Given the description of an element on the screen output the (x, y) to click on. 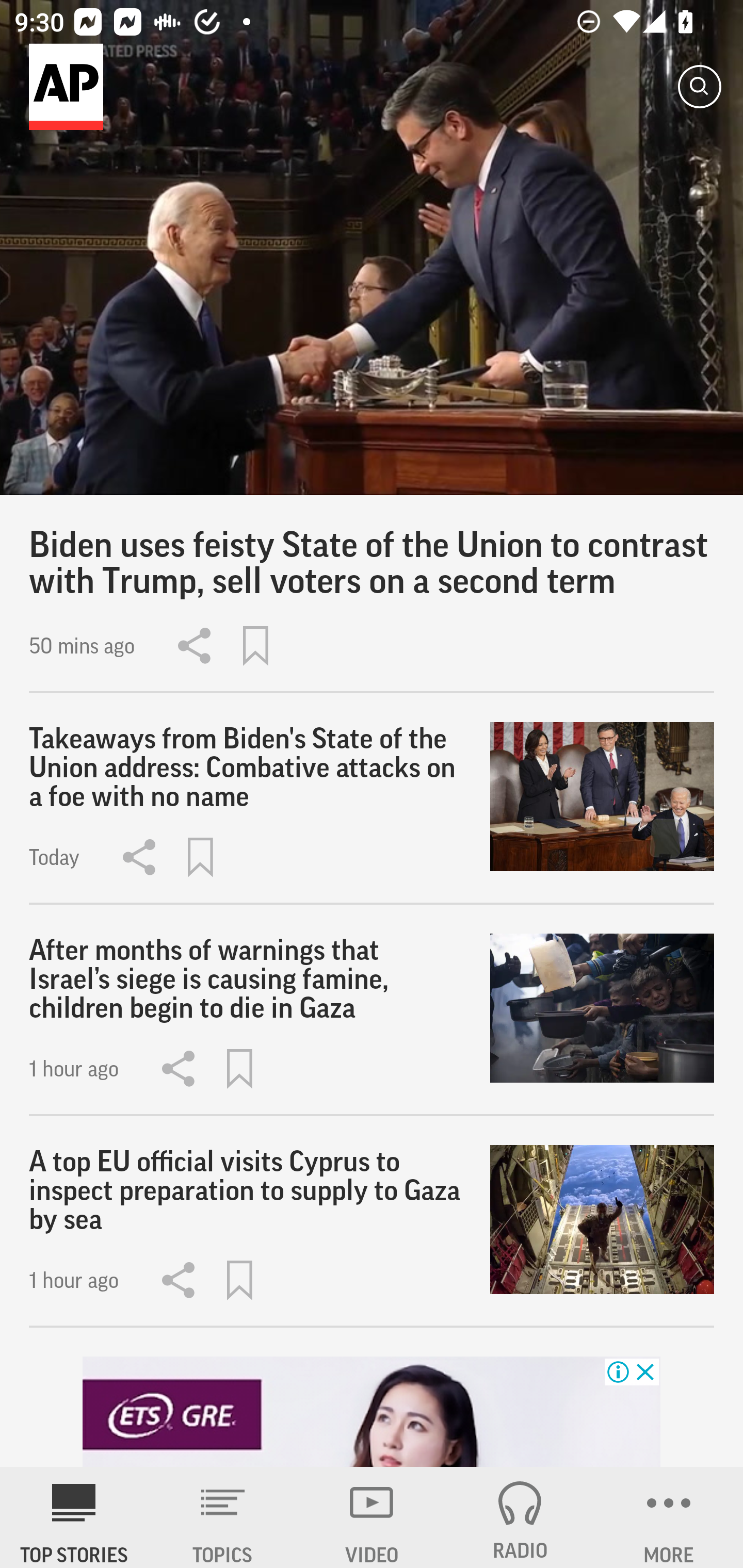
AP News TOP STORIES (74, 1517)
TOPICS (222, 1517)
VIDEO (371, 1517)
RADIO (519, 1517)
MORE (668, 1517)
